Given the description of an element on the screen output the (x, y) to click on. 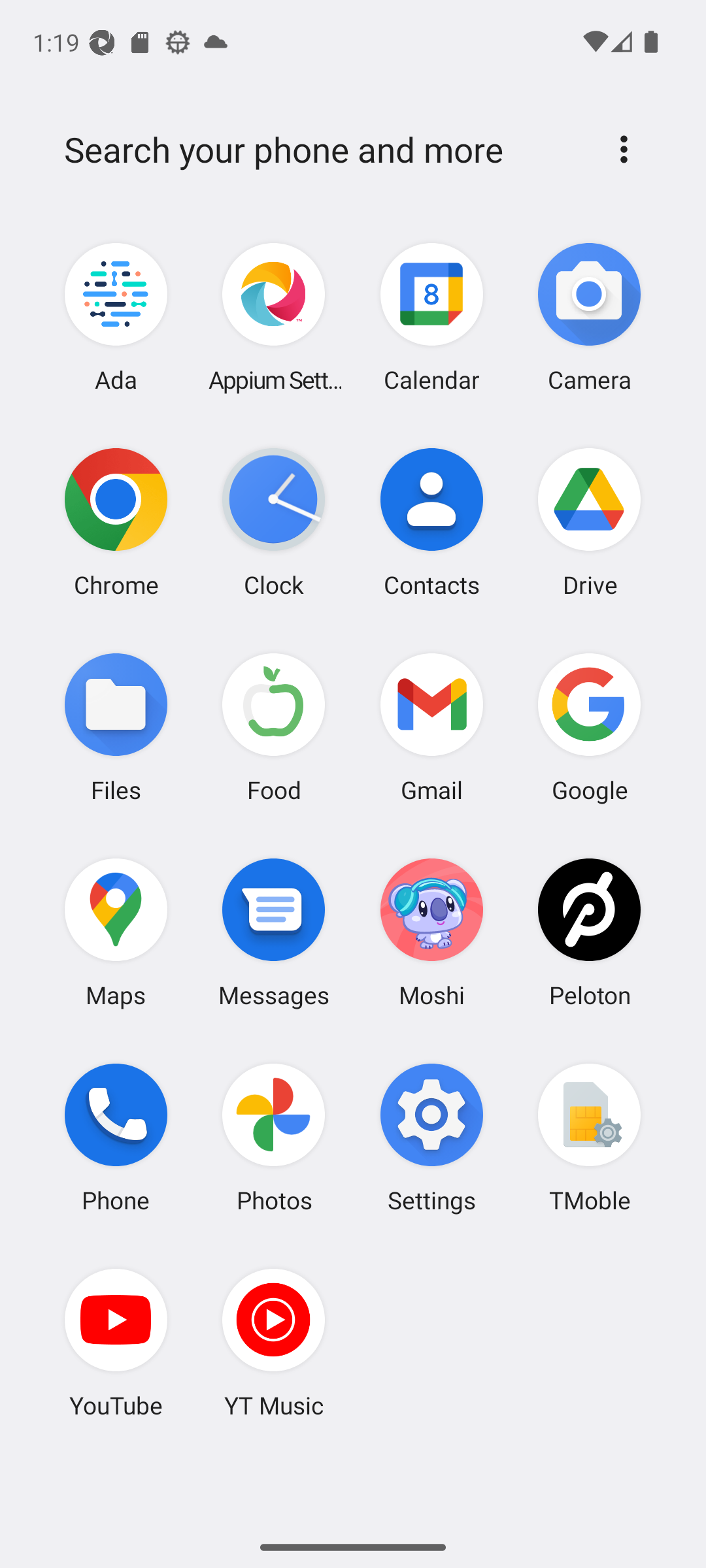
Search your phone and more (321, 149)
Preferences (623, 149)
Ada (115, 317)
Appium Settings (273, 317)
Calendar (431, 317)
Camera (589, 317)
Chrome (115, 522)
Clock (273, 522)
Contacts (431, 522)
Drive (589, 522)
Files (115, 726)
Food (273, 726)
Gmail (431, 726)
Google (589, 726)
Maps (115, 931)
Messages (273, 931)
Moshi (431, 931)
Peloton (589, 931)
Phone (115, 1137)
Photos (273, 1137)
Settings (431, 1137)
TMoble (589, 1137)
YouTube (115, 1342)
YT Music (273, 1342)
